Given the description of an element on the screen output the (x, y) to click on. 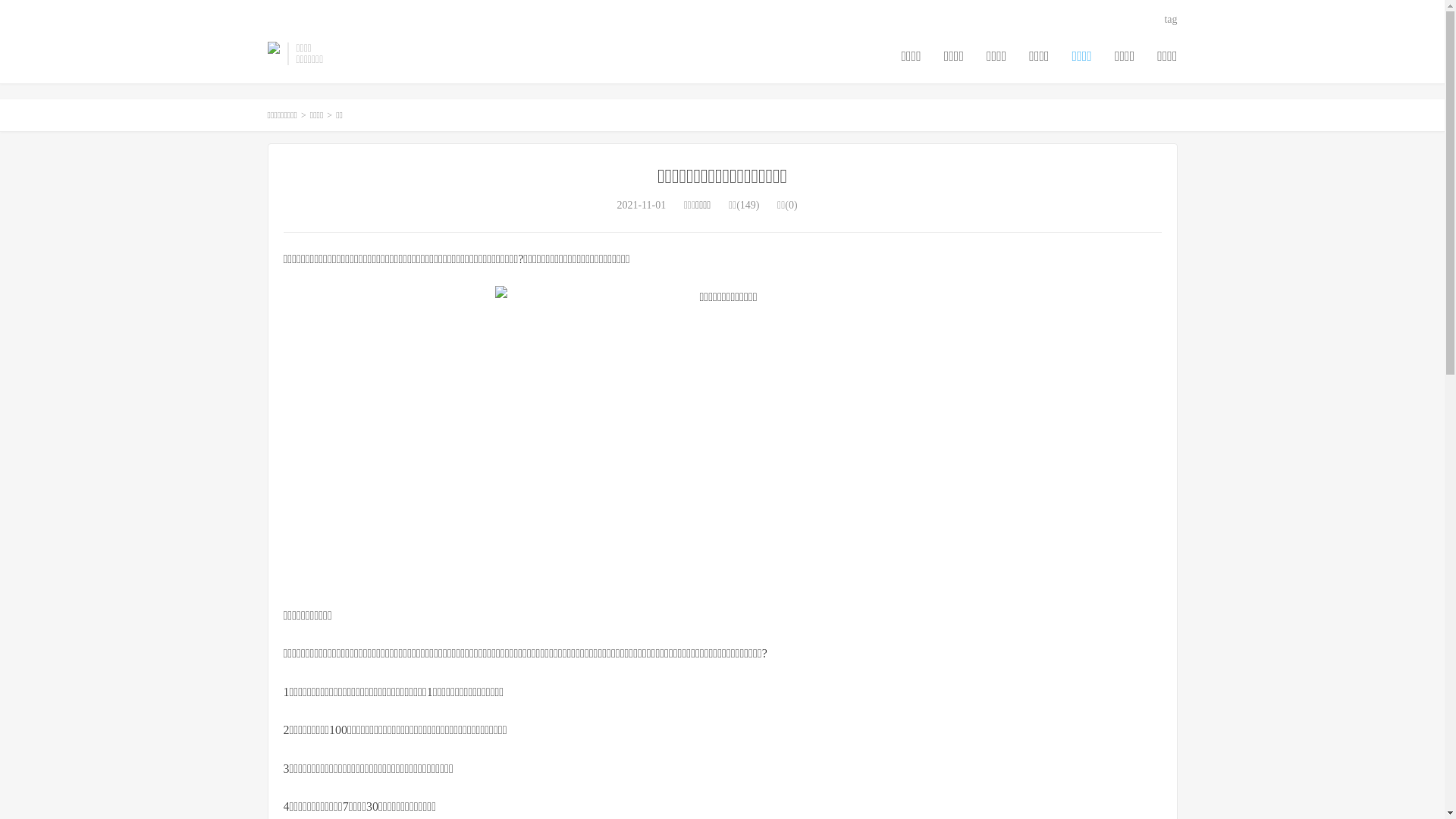
tag Element type: text (1170, 19)
